Given the description of an element on the screen output the (x, y) to click on. 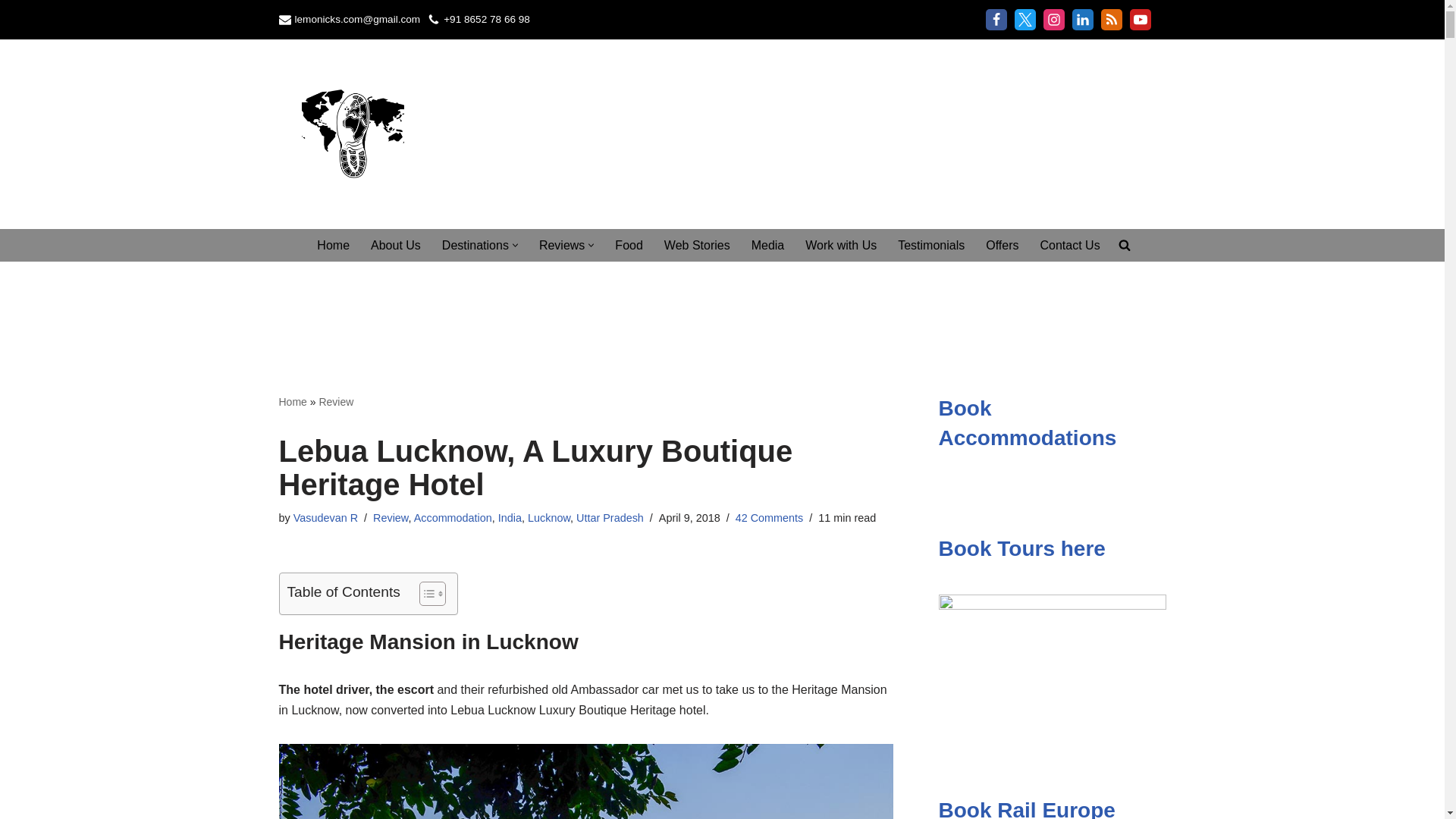
Linkedin (1082, 19)
Twitter (1024, 19)
Destinations (475, 245)
RSS (1111, 19)
Youtube (1140, 19)
Skip to content (11, 31)
Home (333, 245)
Facebook (996, 19)
Posts by Vasudevan R (326, 517)
About Us (395, 245)
Instagram (1053, 19)
